Given the description of an element on the screen output the (x, y) to click on. 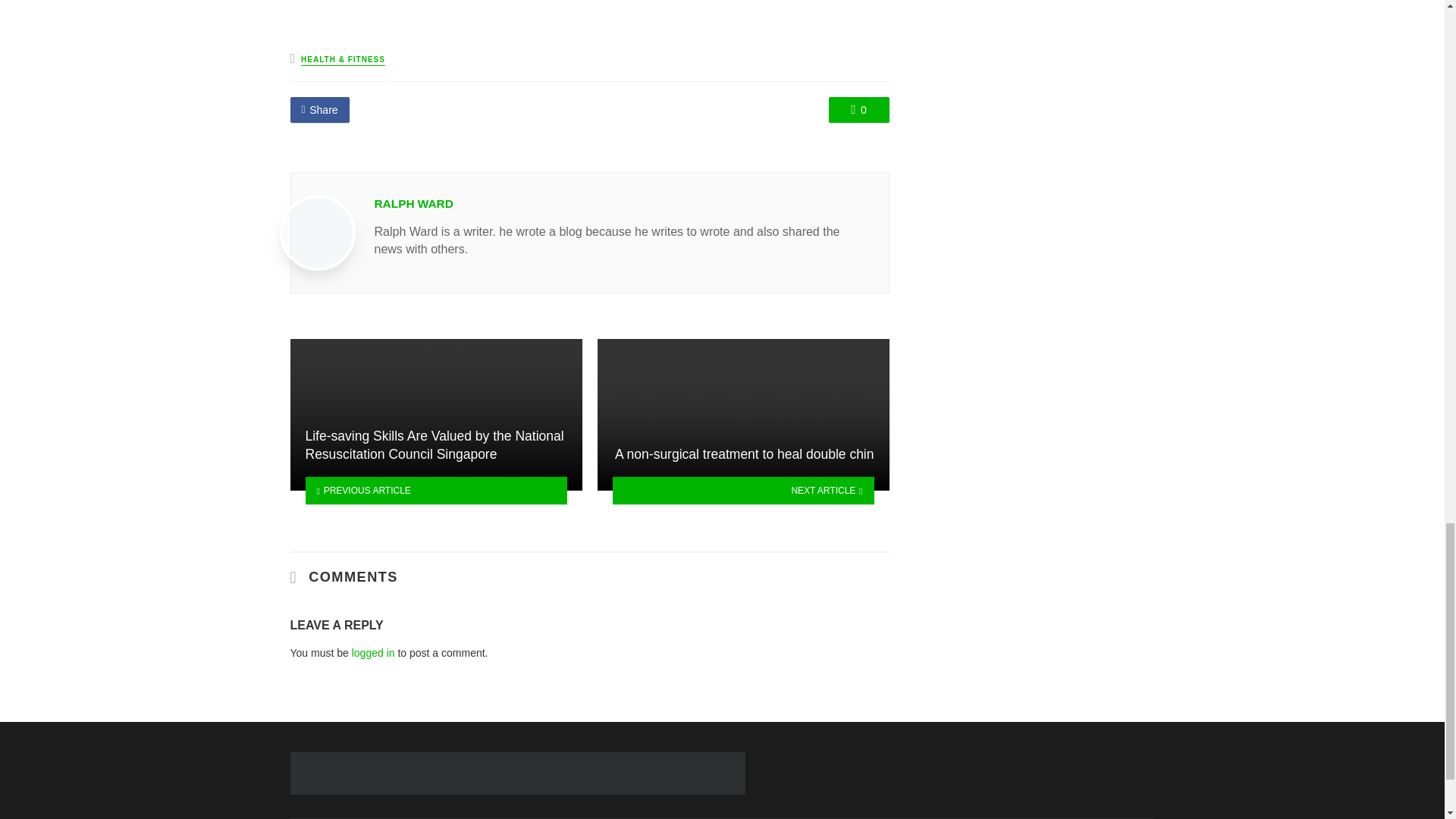
0 (858, 109)
Share on Facebook (319, 109)
RALPH WARD (413, 203)
NEXT ARTICLE (742, 489)
Posts by Ralph Ward (413, 203)
PREVIOUS ARTICLE (434, 489)
Share (319, 109)
0 Comments (858, 109)
logged in (373, 653)
